Given the description of an element on the screen output the (x, y) to click on. 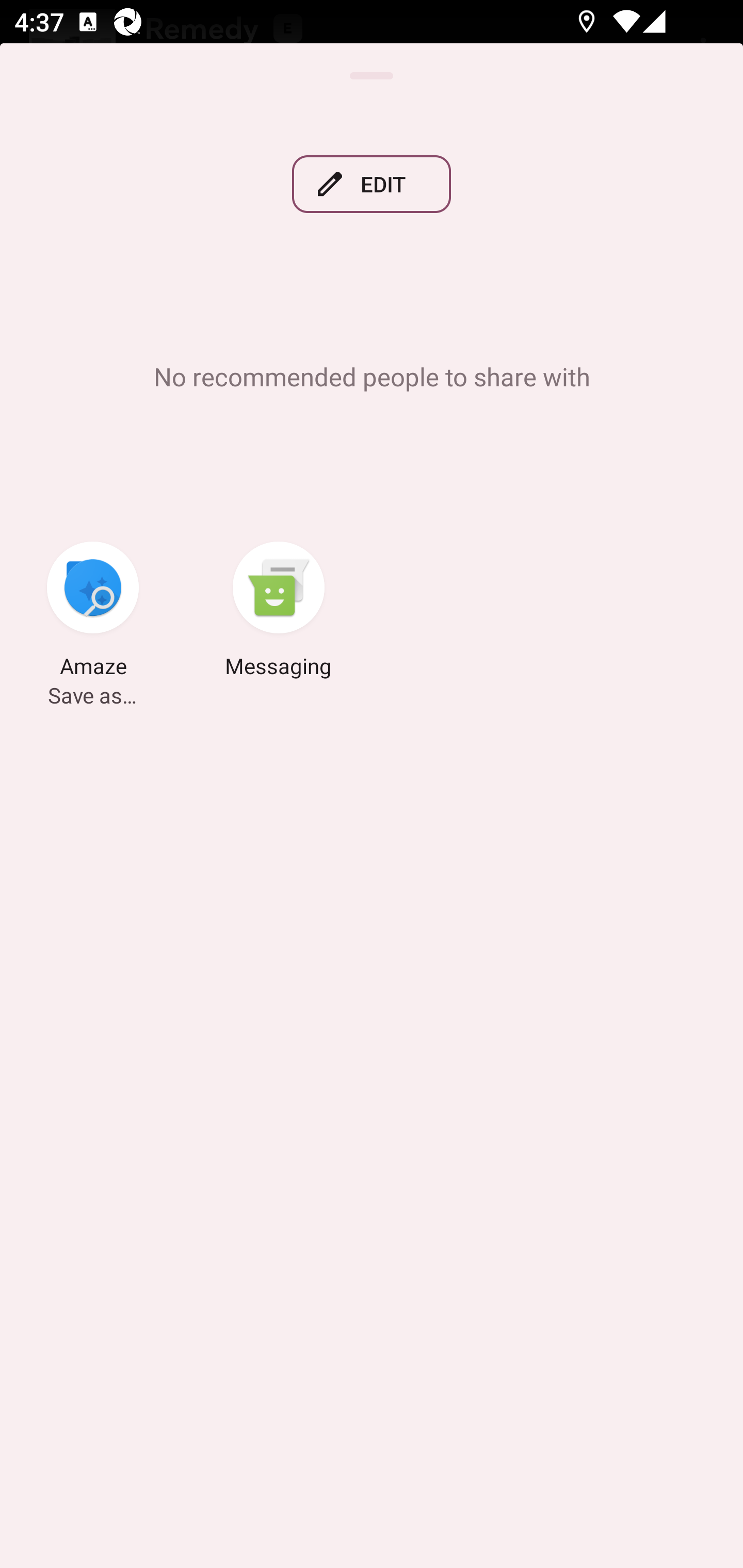
EDIT (371, 184)
Amaze Save as… (92, 611)
Messaging (278, 611)
